Given the description of an element on the screen output the (x, y) to click on. 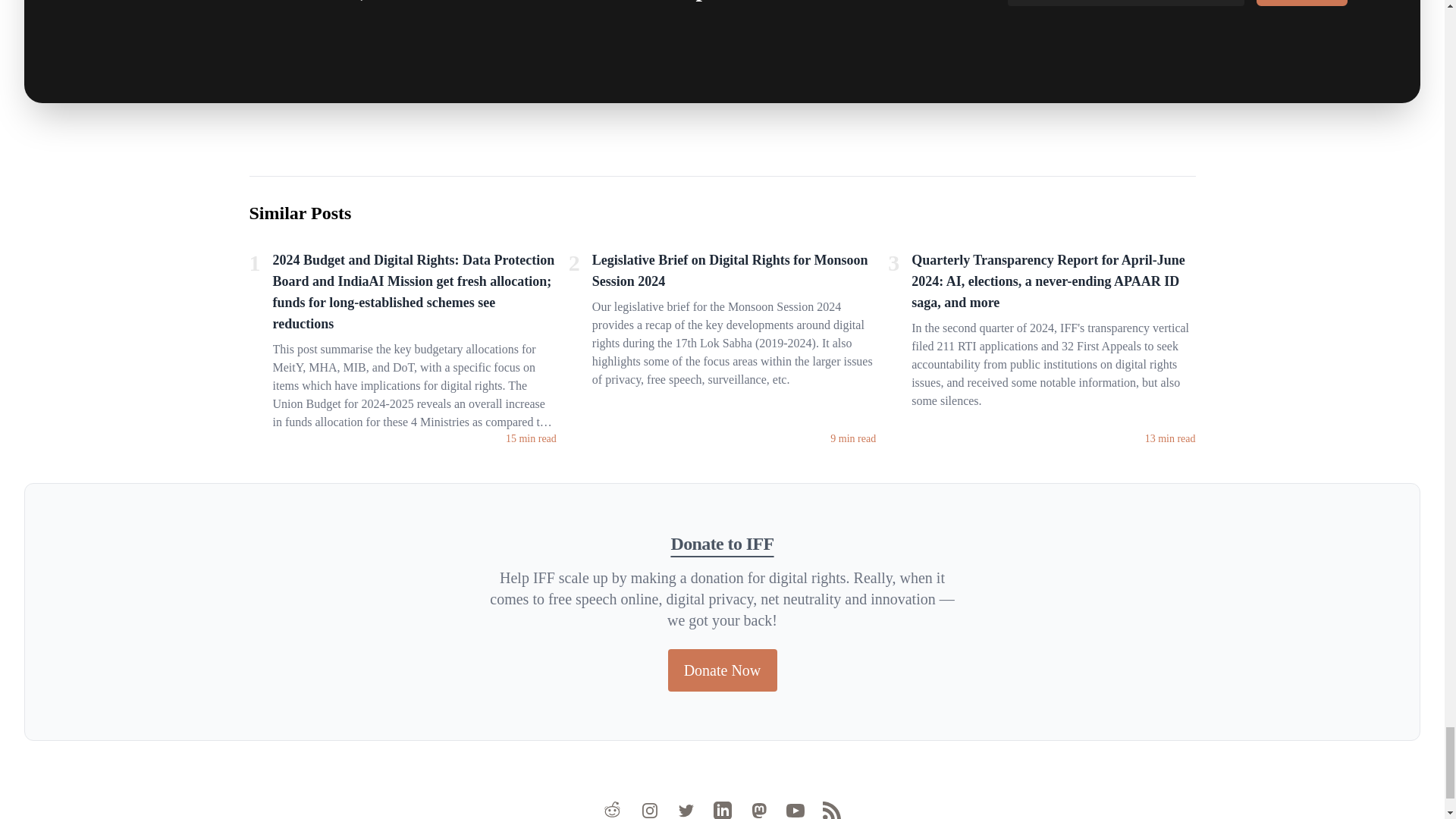
Subscribe (1302, 2)
Legislative Brief on Digital Rights for Monsoon Session 2024 (734, 273)
